Given the description of an element on the screen output the (x, y) to click on. 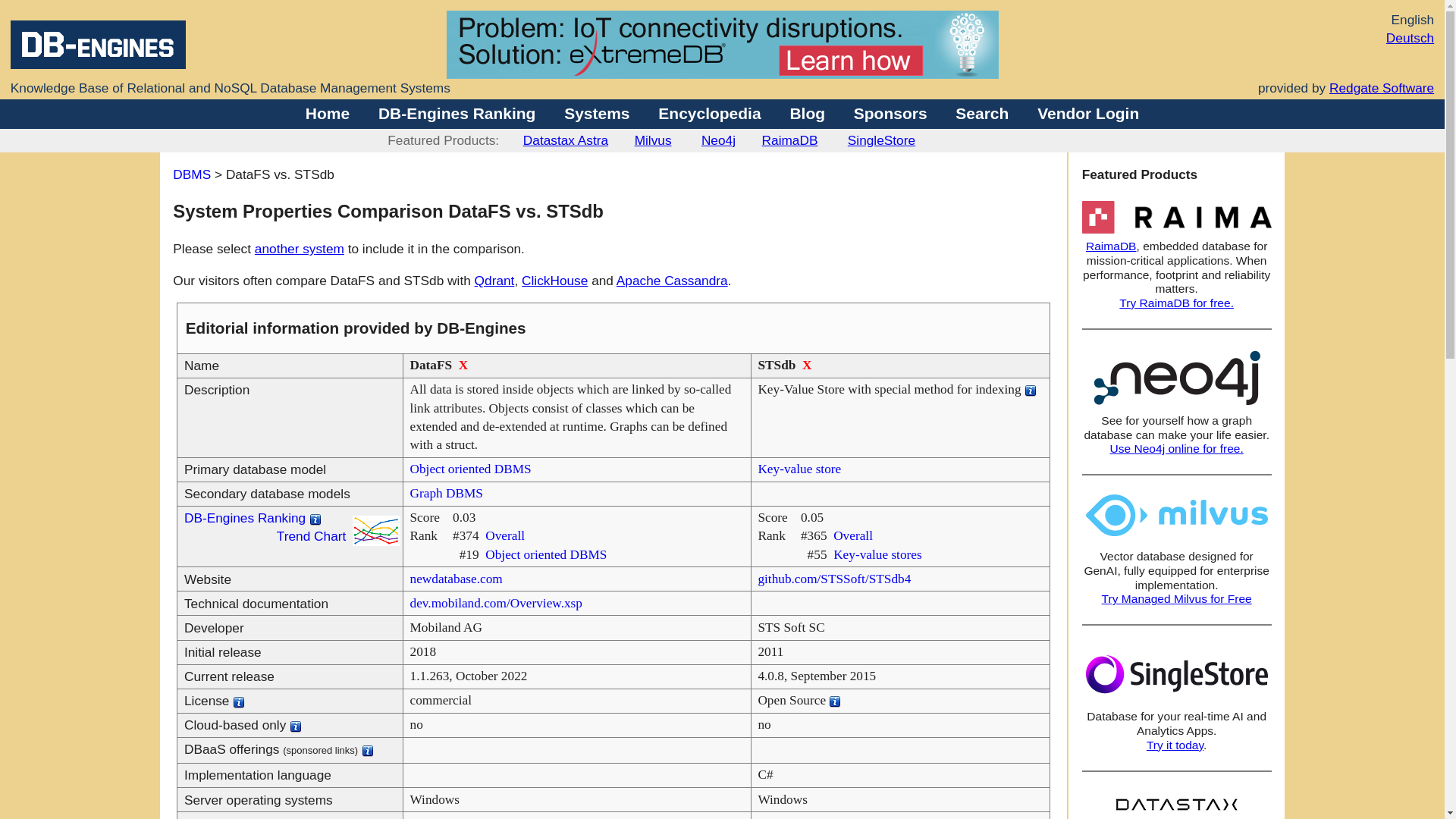
Datastax Astra (565, 140)
DBMS (192, 174)
ClickHouse (554, 280)
Object oriented DBMS (470, 468)
Encyclopedia (709, 113)
RaimaDB (789, 140)
another system (298, 248)
Redgate Software (1381, 87)
Search (982, 113)
Sponsors (890, 113)
